Given the description of an element on the screen output the (x, y) to click on. 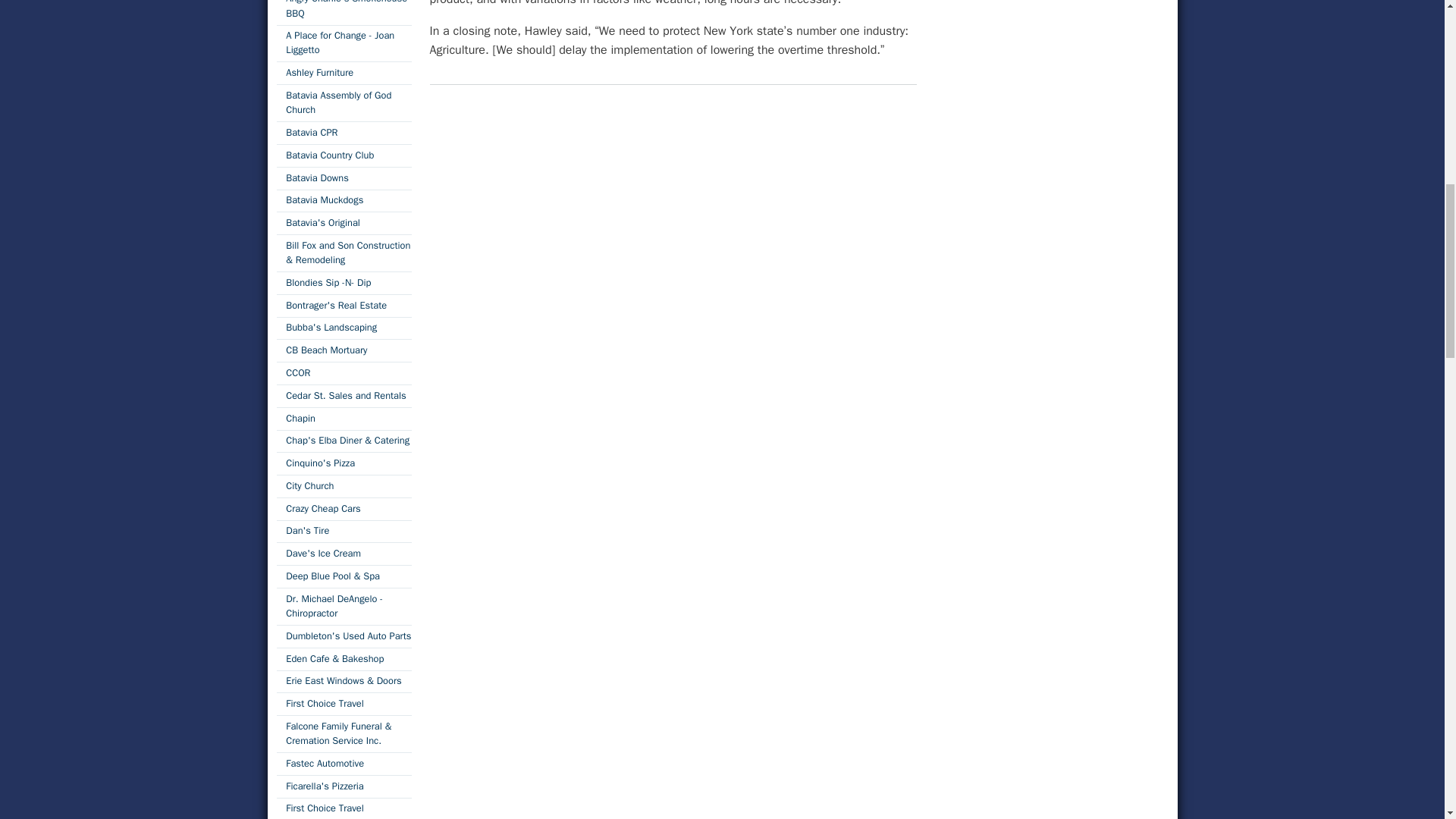
Subscribe to overtime threshold (435, 105)
